Given the description of an element on the screen output the (x, y) to click on. 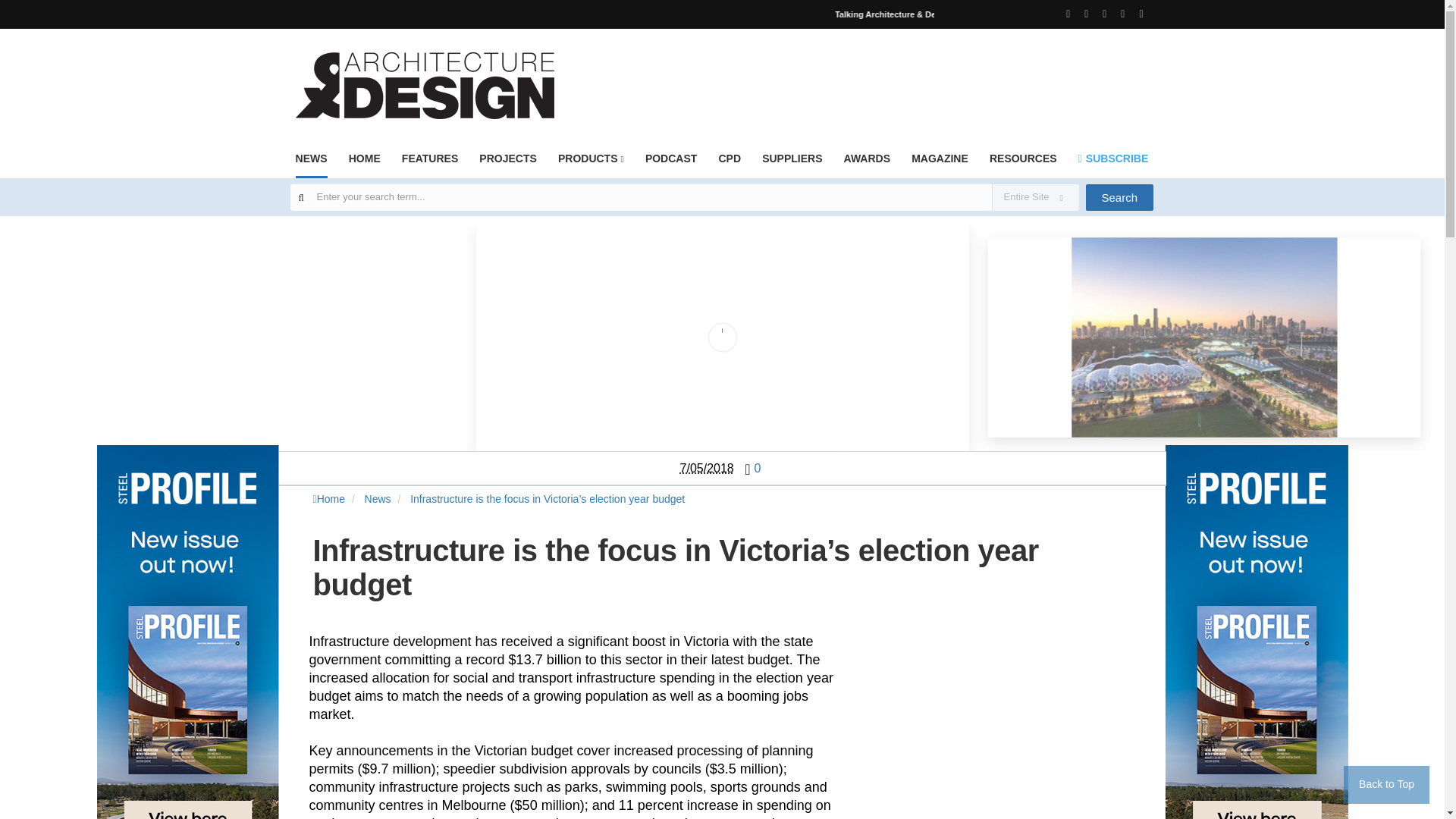
3rd party ad content (876, 75)
HOME (364, 163)
PRODUCTS (590, 163)
FEATURES (429, 163)
Infrastructure (722, 337)
NEWS (311, 164)
3rd party ad content (1011, 733)
PROJECTS (507, 163)
2018-05-06T21:34:52Z (706, 468)
